Given the description of an element on the screen output the (x, y) to click on. 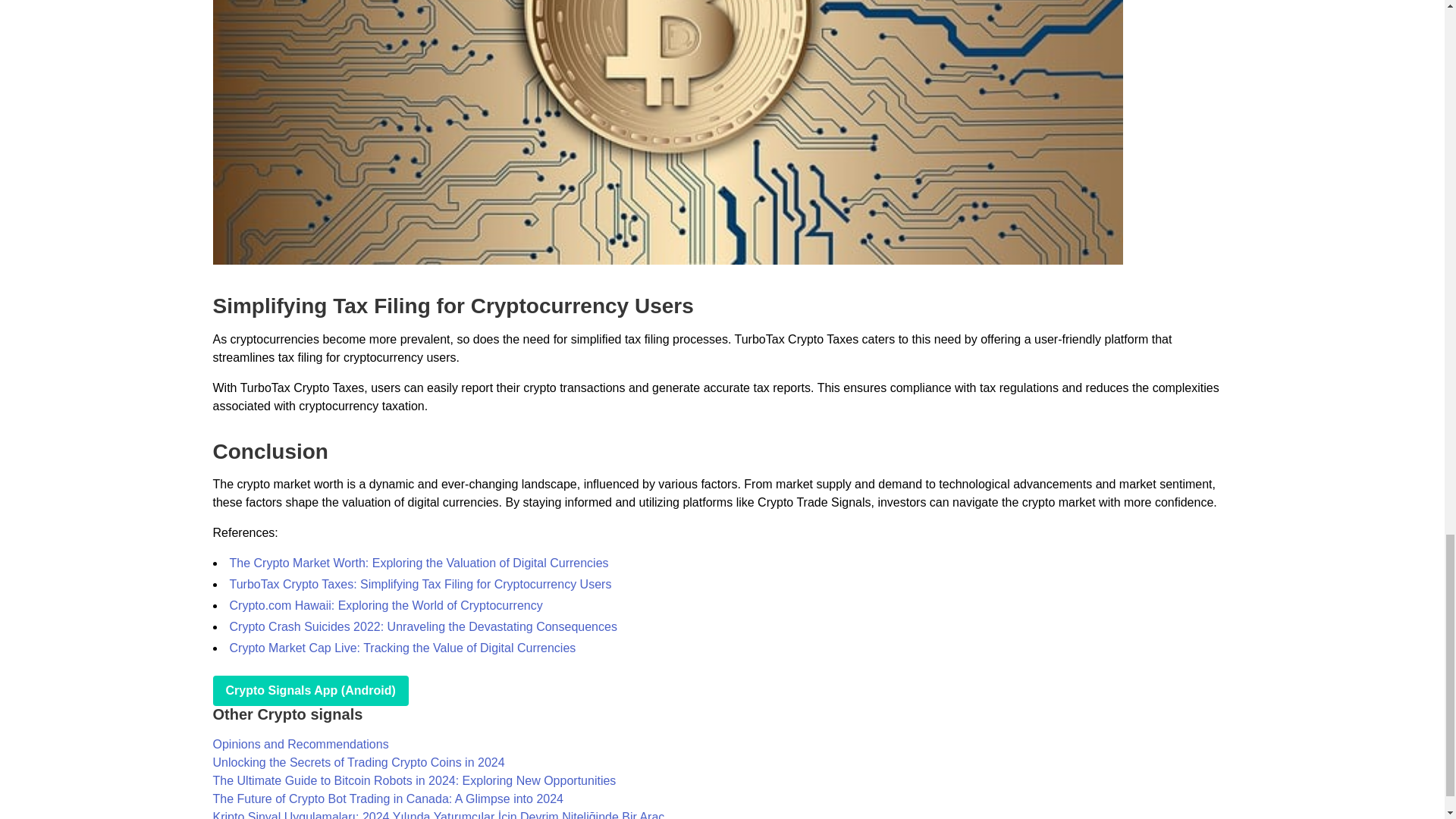
Unlocking the Secrets of Trading Crypto Coins in 2024 (357, 762)
Crypto.com Hawaii: Exploring the World of Cryptocurrency (384, 604)
Opinions and Recommendations (300, 744)
play (309, 690)
Unlocking the Secrets of Trading Crypto Coins in 2024 (357, 762)
Opinions and Recommendations (300, 744)
